Given the description of an element on the screen output the (x, y) to click on. 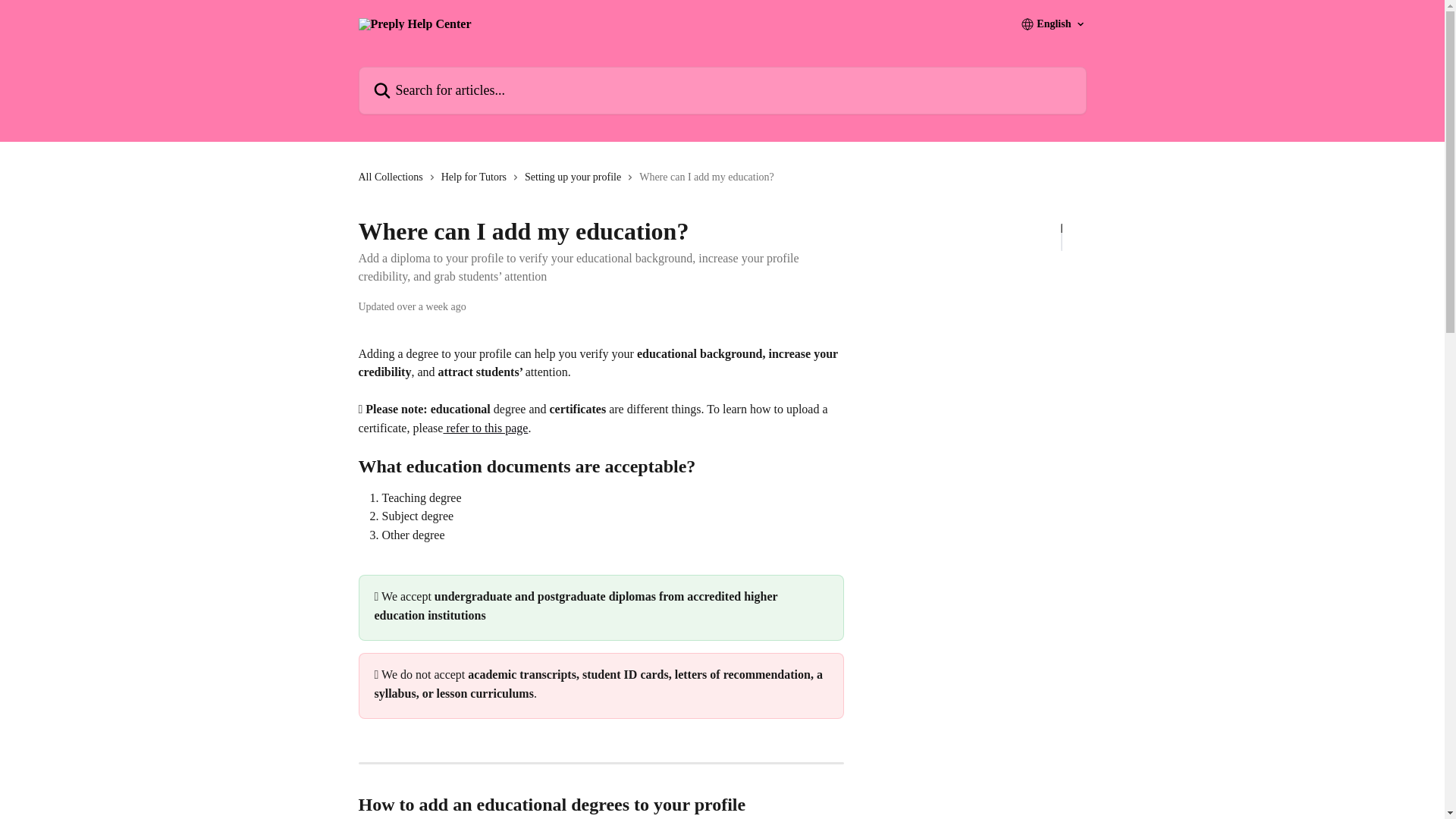
refer to this page (484, 427)
All Collections (393, 176)
Setting up your profile (575, 176)
Help for Tutors (476, 176)
